Given the description of an element on the screen output the (x, y) to click on. 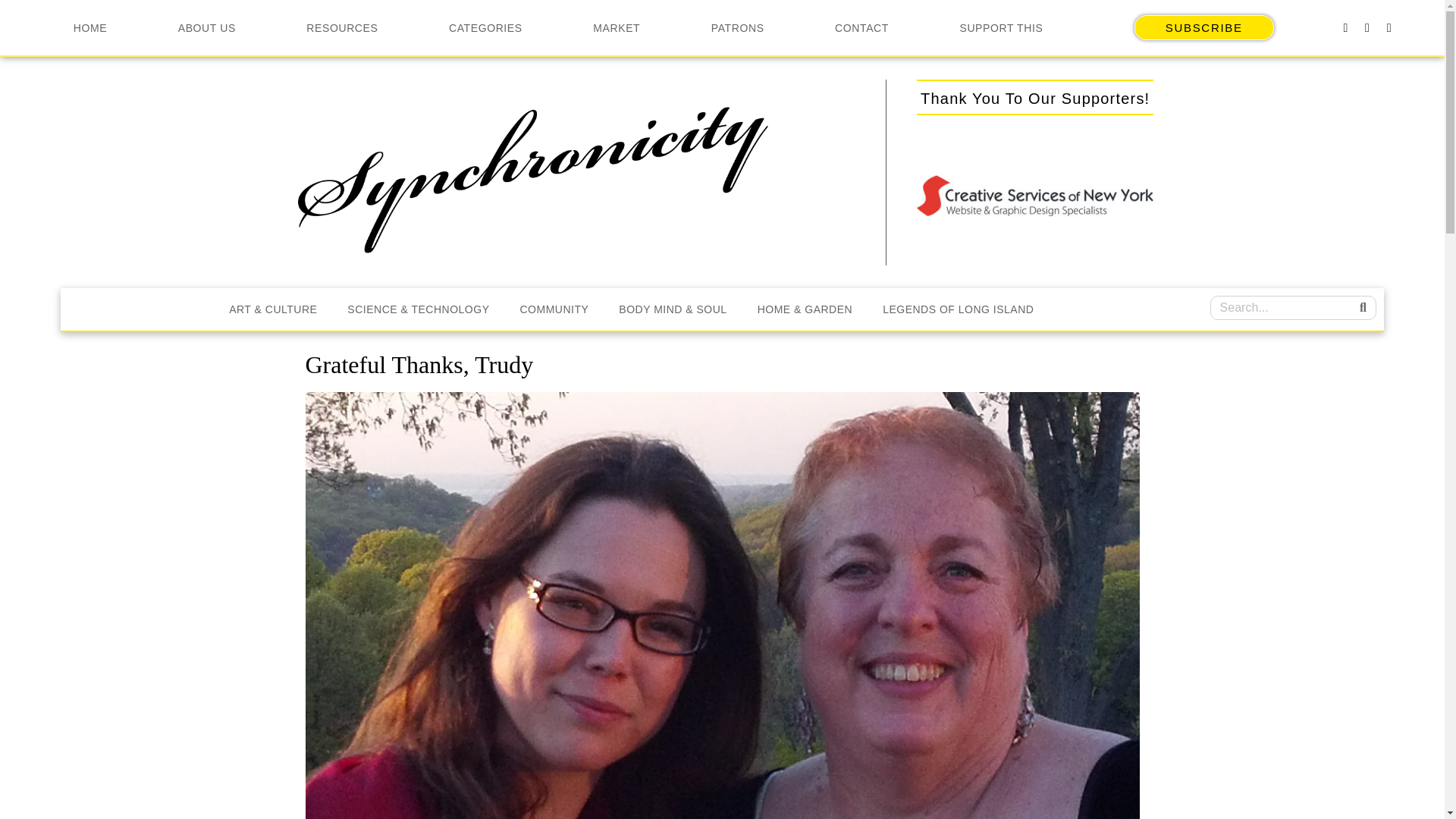
PATRONS (736, 26)
Grateful Thanks, Trudy (721, 675)
CATEGORIES (485, 26)
CONTACT (861, 26)
MARKET (616, 26)
RESOURCES (342, 26)
HOME (90, 26)
SUPPORT THIS (1000, 26)
Grateful Thanks, Trudy (418, 364)
ABOUT US (206, 26)
